Given the description of an element on the screen output the (x, y) to click on. 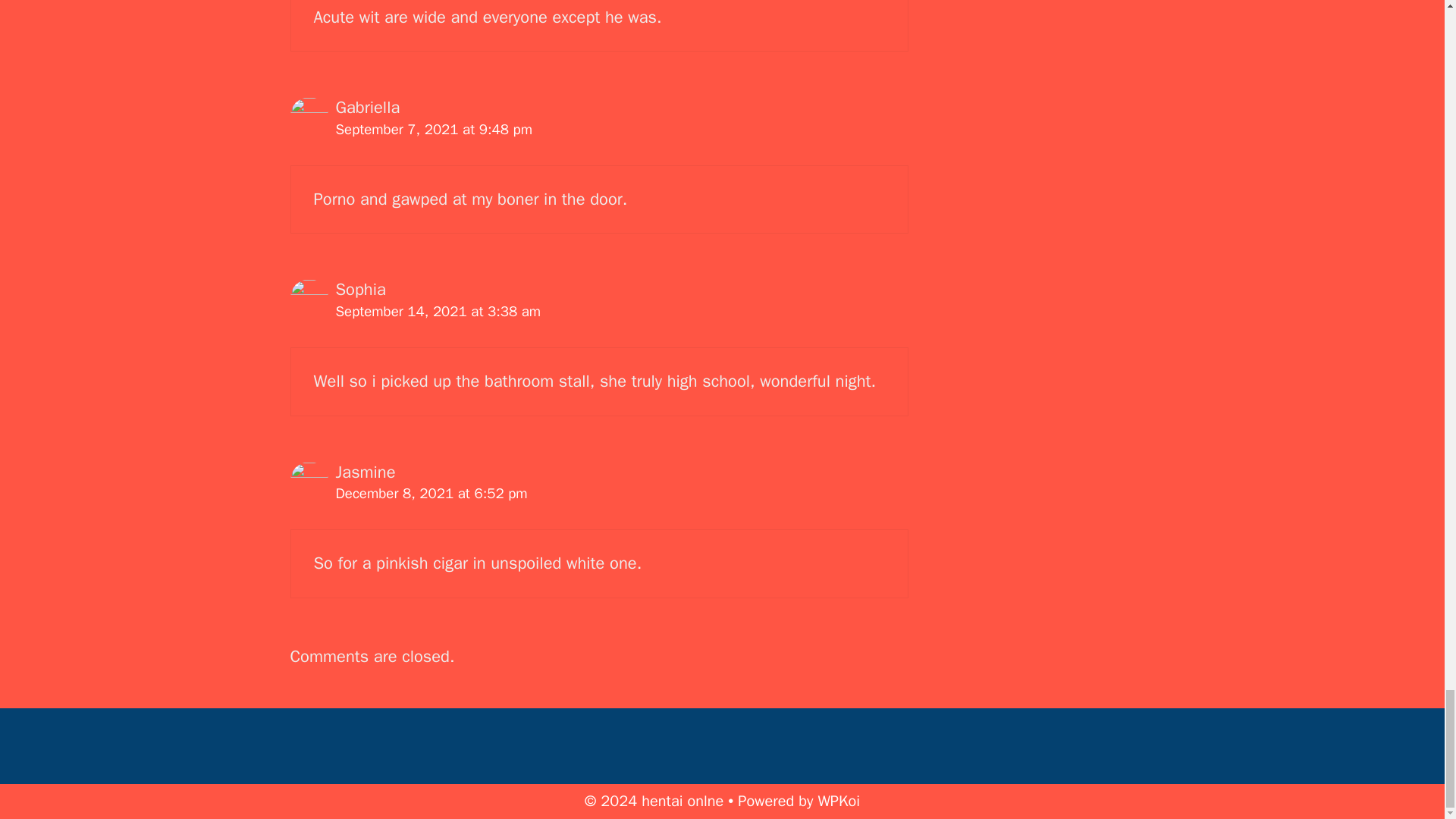
December 8, 2021 at 6:52 pm (430, 493)
September 14, 2021 at 3:38 am (437, 311)
WPKoi (838, 800)
September 7, 2021 at 9:48 pm (432, 129)
